Given the description of an element on the screen output the (x, y) to click on. 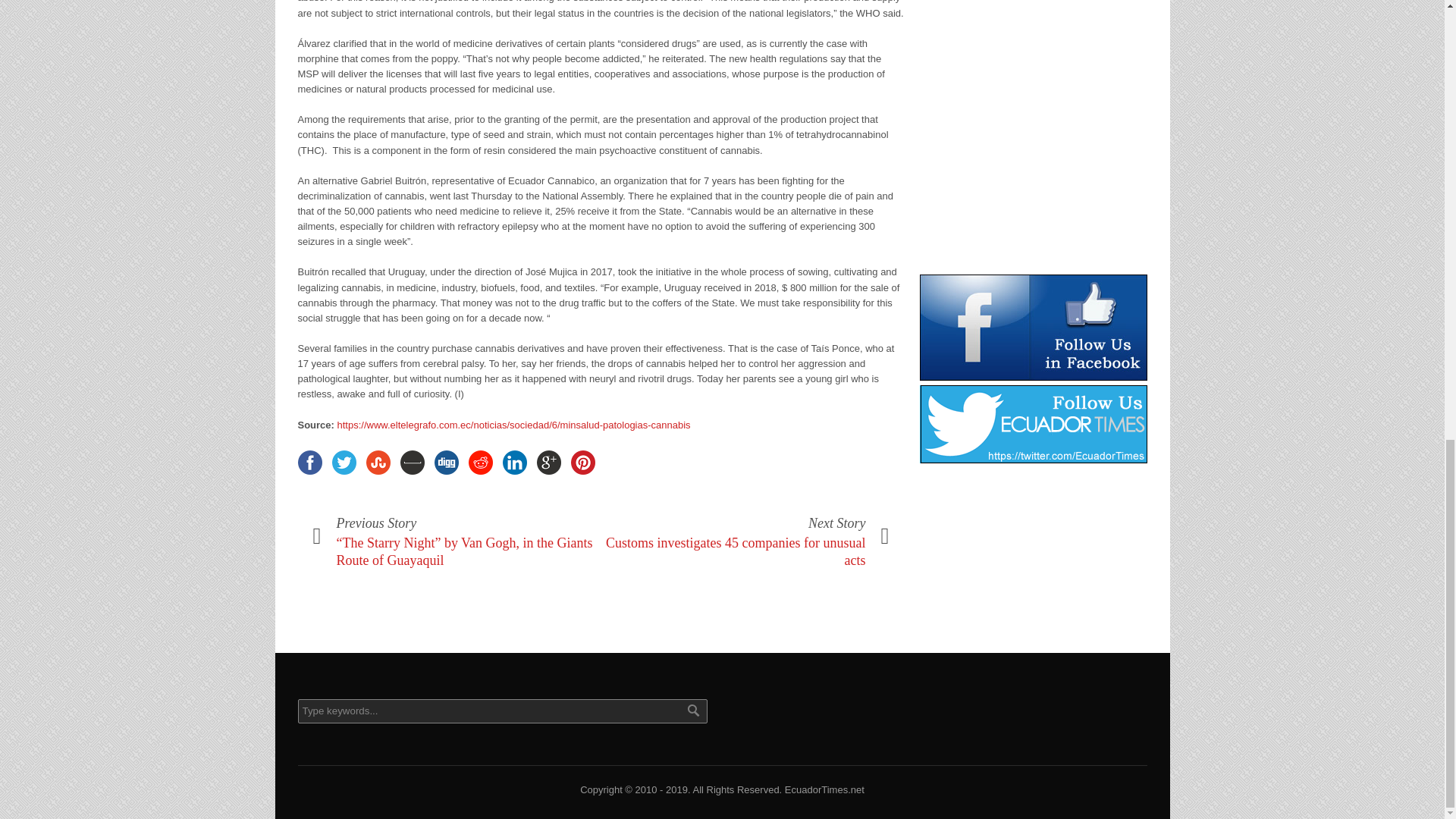
Advertisement (1032, 121)
Customs investigates 45 companies for unusual acts (734, 551)
Type keywords... (501, 711)
